Given the description of an element on the screen output the (x, y) to click on. 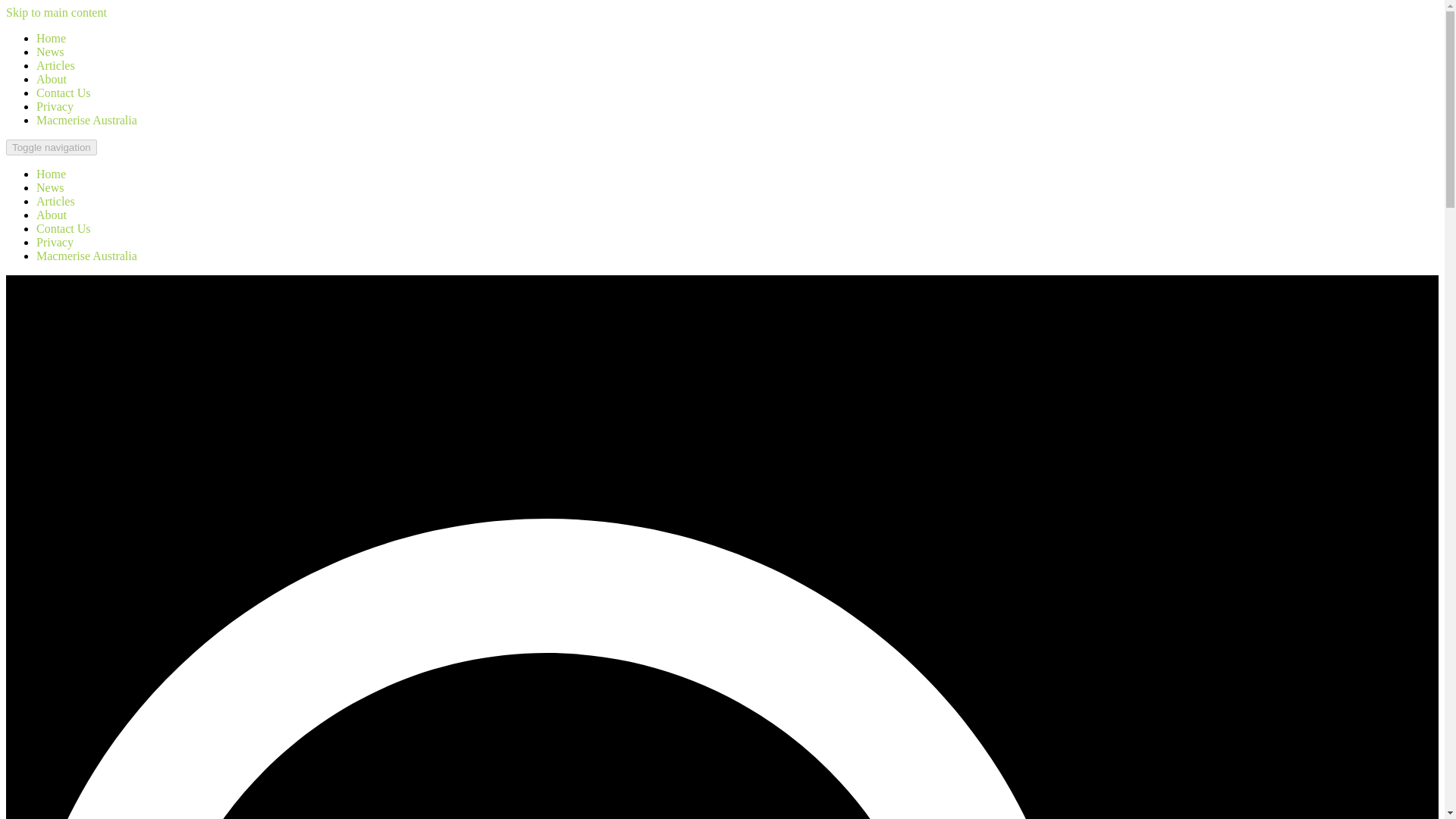
Contact Us (63, 92)
News (50, 187)
Privacy (55, 241)
Home (50, 173)
Contact Us (63, 92)
Privacy (55, 106)
Home (50, 173)
Privacy (55, 241)
News (50, 187)
Skip to main content (55, 11)
